Given the description of an element on the screen output the (x, y) to click on. 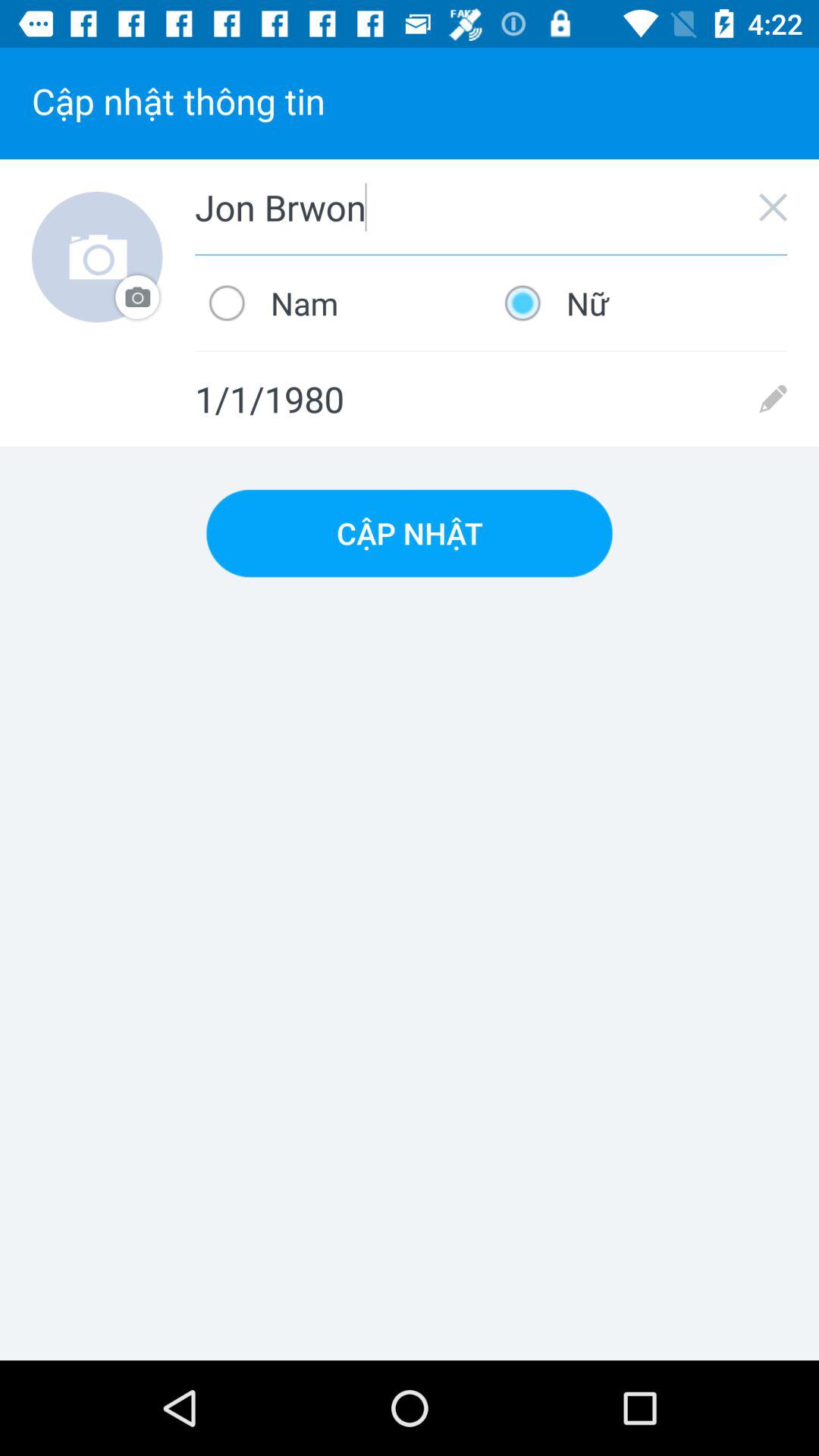
click the item below jon brwon icon (638, 302)
